Given the description of an element on the screen output the (x, y) to click on. 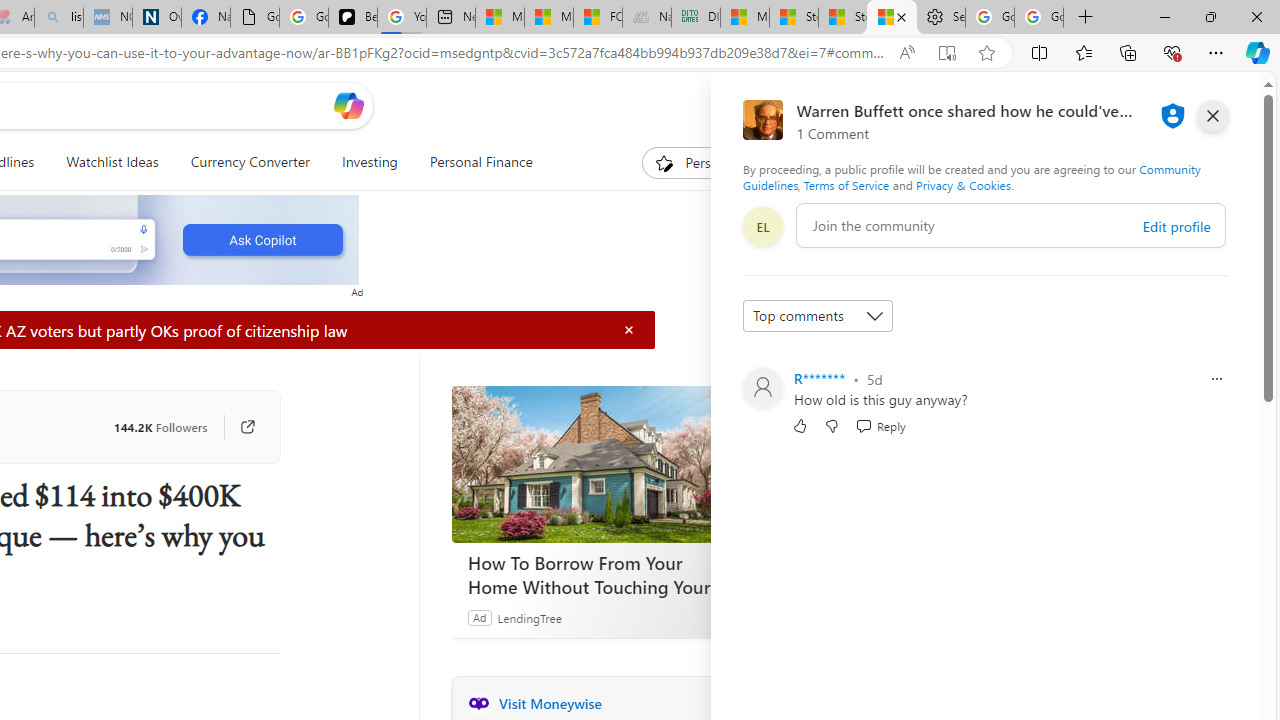
close (1212, 115)
Profile Picture (762, 387)
Privacy & Cookies (964, 184)
Watchlist Ideas (112, 162)
Investing (369, 162)
Watchlist Ideas (112, 162)
Be Smart | creating Science videos | Patreon (353, 17)
Hide (629, 329)
Terms of Service (846, 184)
Reply Reply Comment (880, 425)
Like (799, 425)
